Given the description of an element on the screen output the (x, y) to click on. 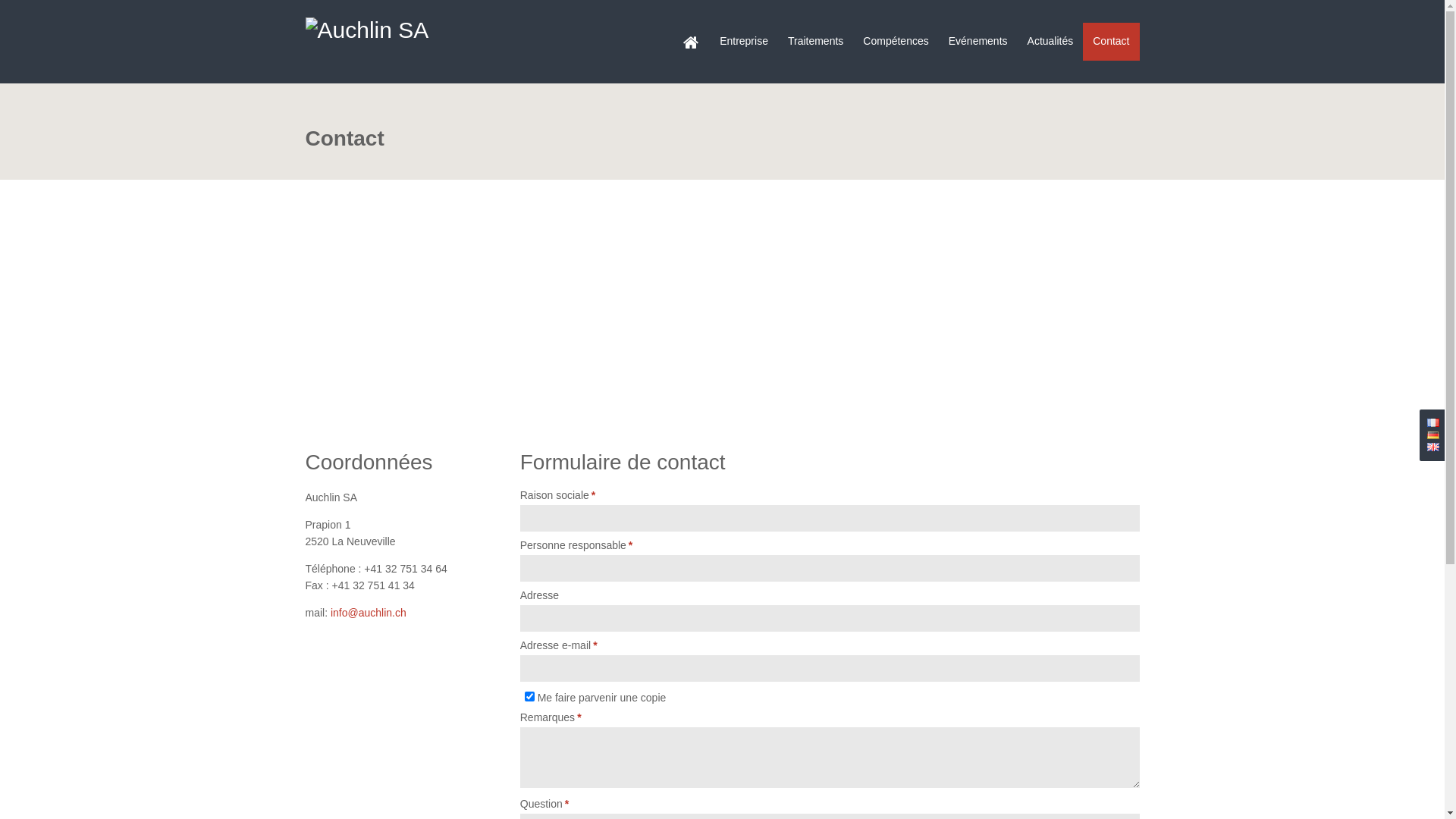
Contact Element type: hover (1433, 447)
Entreprise Element type: text (743, 41)
Traitements Element type: text (815, 41)
Kontakt Element type: hover (1433, 435)
info@auchlin.ch Element type: text (368, 612)
Accueil Element type: text (690, 41)
